Given the description of an element on the screen output the (x, y) to click on. 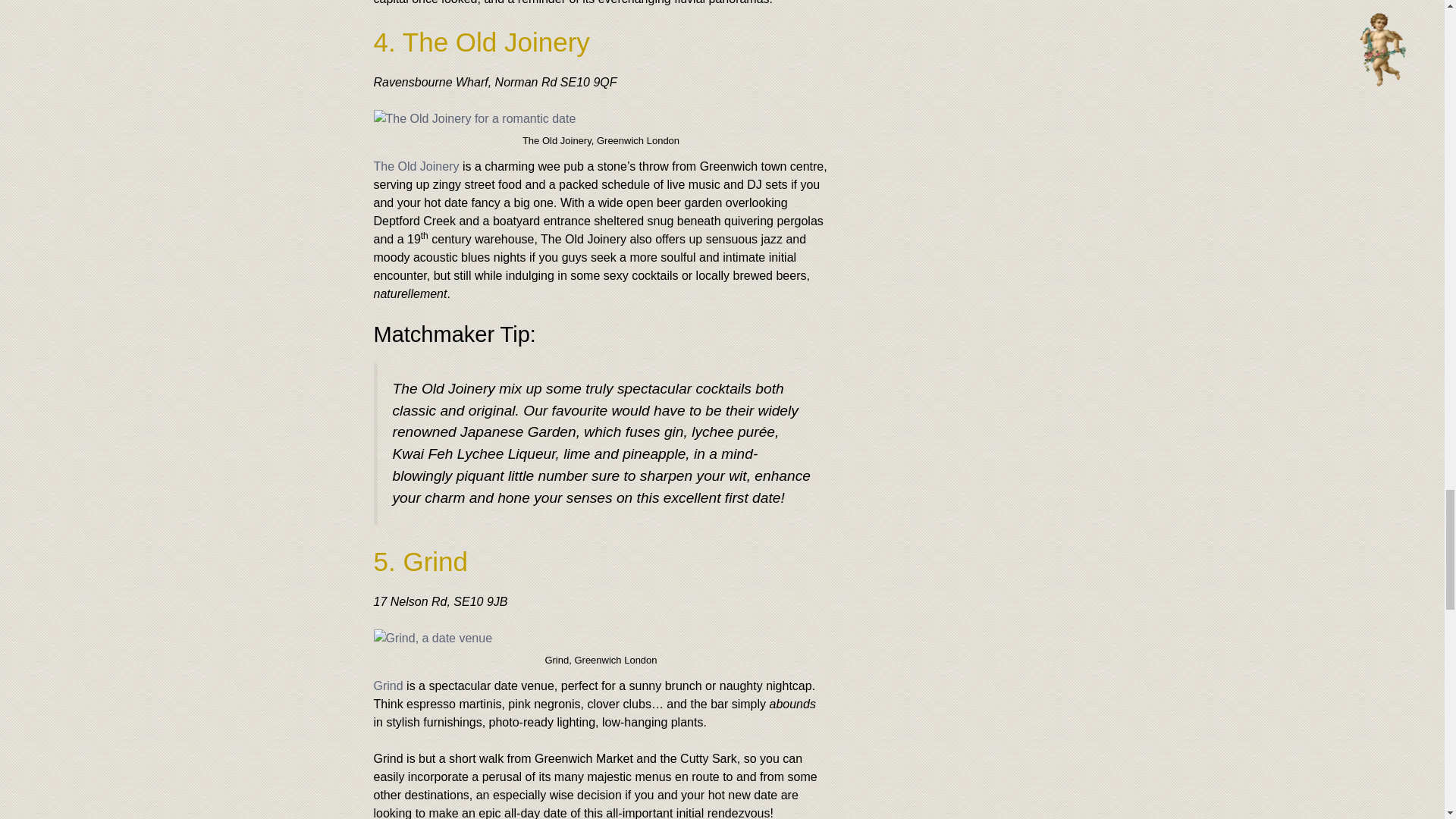
Grind (387, 685)
The Old Joinery (415, 165)
